Given the description of an element on the screen output the (x, y) to click on. 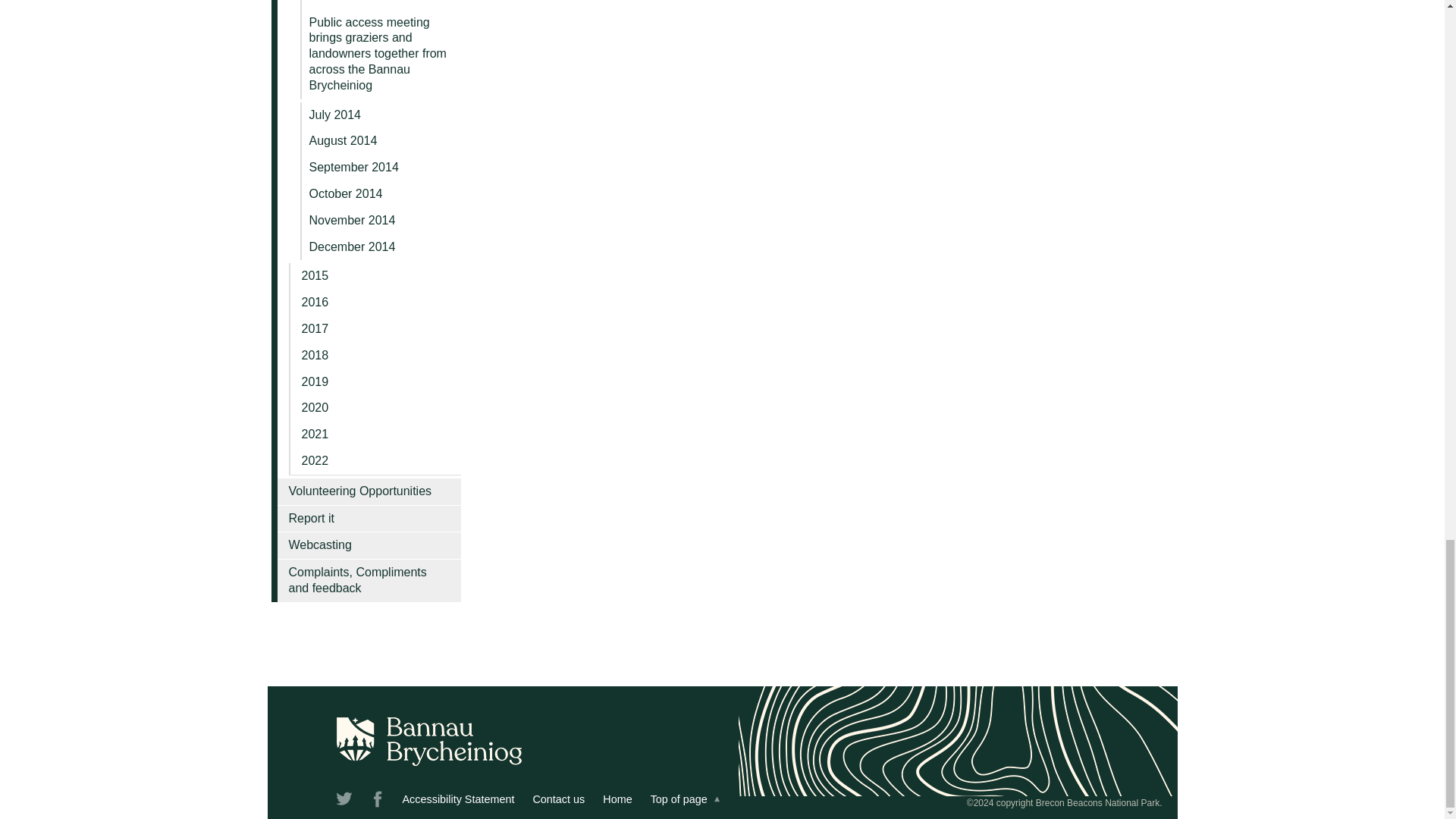
Brecon Beacons National Park homepage (616, 799)
Follow us on Twitter (344, 801)
Get our updates on Facebook (378, 801)
